Given the description of an element on the screen output the (x, y) to click on. 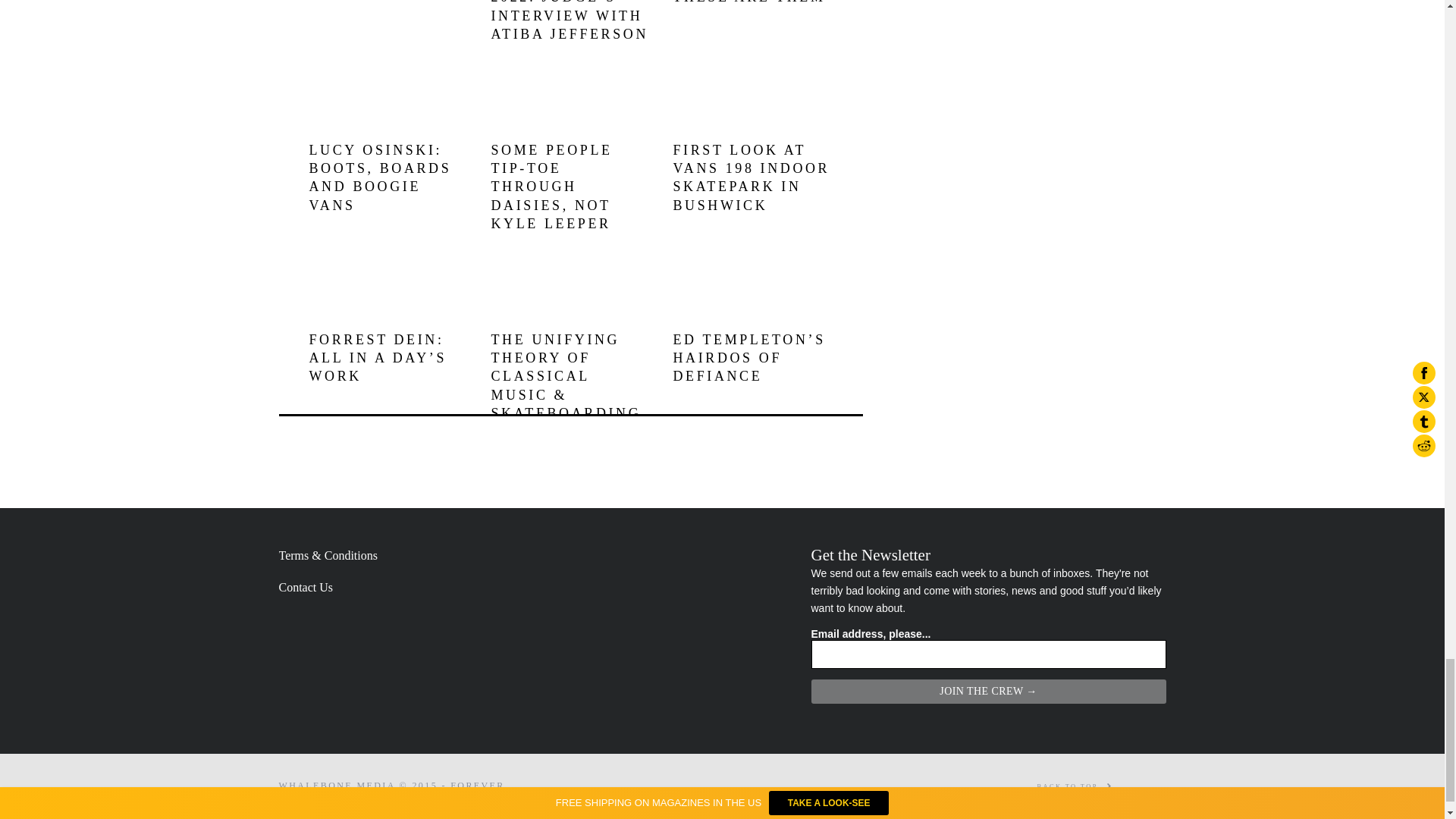
SOME PEOPLE TIP-TOE THROUGH DAISIES, NOT KYLE LEEPER (552, 186)
FIRST LOOK AT VANS 198 INDOOR SKATEPARK IN BUSHWICK (750, 177)
LUCY OSINSKI: BOOTS, BOARDS AND BOOGIE VANS (379, 177)
